Given the description of an element on the screen output the (x, y) to click on. 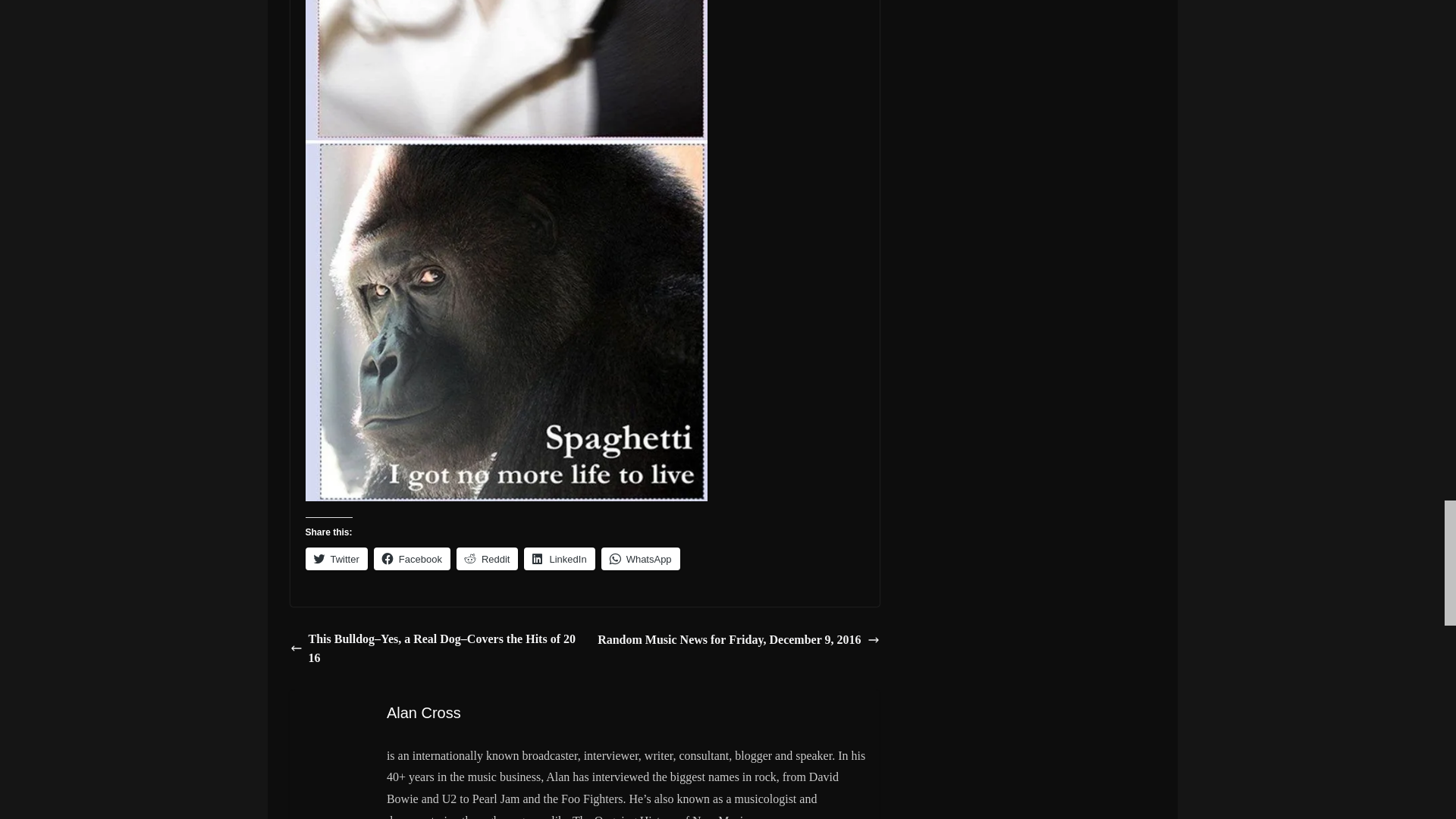
Reddit (487, 558)
LinkedIn (559, 558)
Click to share on WhatsApp (640, 558)
Click to share on Reddit (487, 558)
Click to share on LinkedIn (559, 558)
WhatsApp (640, 558)
Facebook (411, 558)
Twitter (335, 558)
Click to share on Facebook (411, 558)
Click to share on Twitter (335, 558)
